Given the description of an element on the screen output the (x, y) to click on. 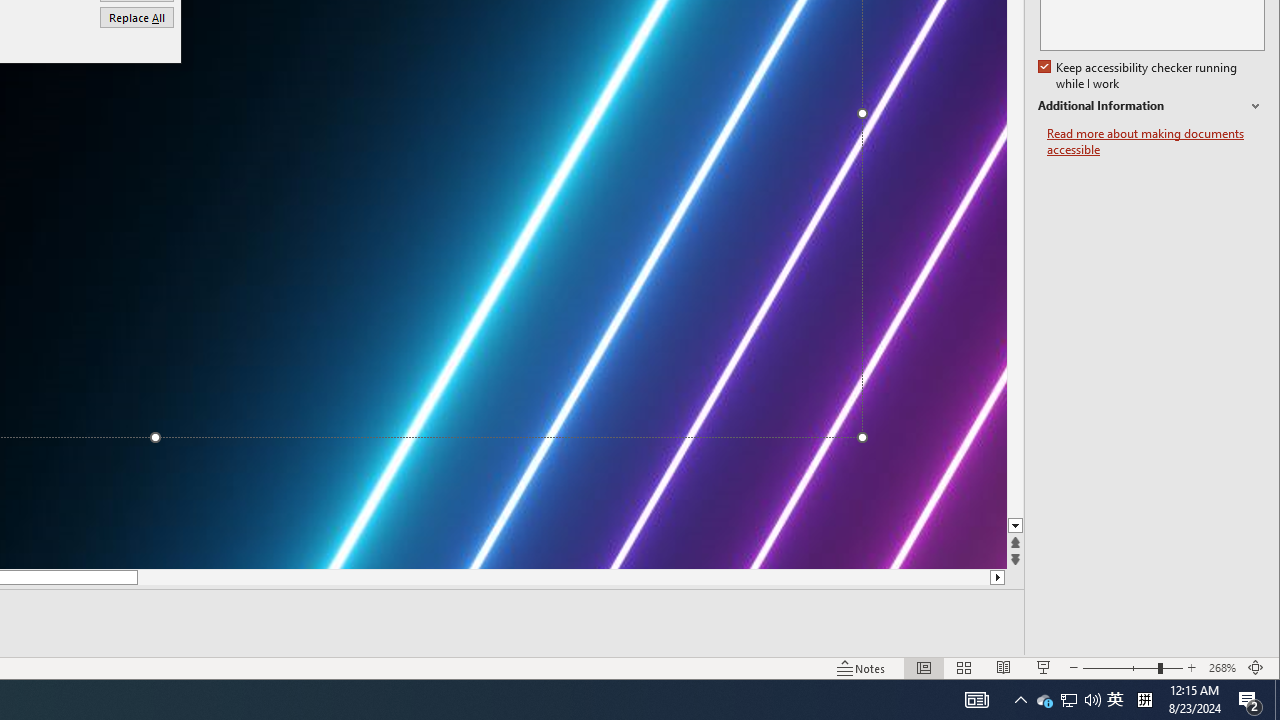
Read more about making documents accessible (1155, 142)
Replace All (136, 16)
Zoom 268% (1222, 668)
